Given the description of an element on the screen output the (x, y) to click on. 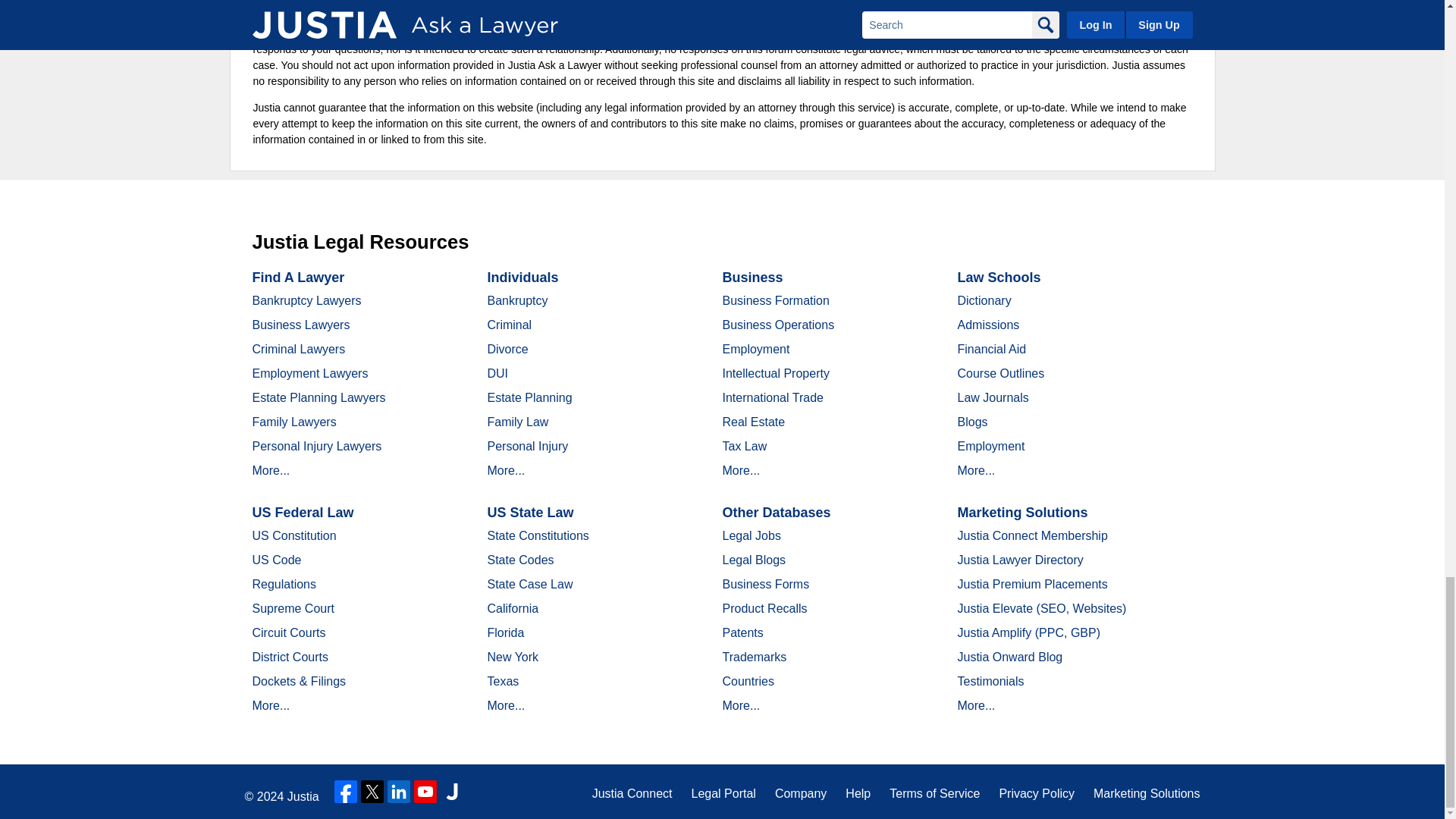
Facebook (345, 791)
